Given the description of an element on the screen output the (x, y) to click on. 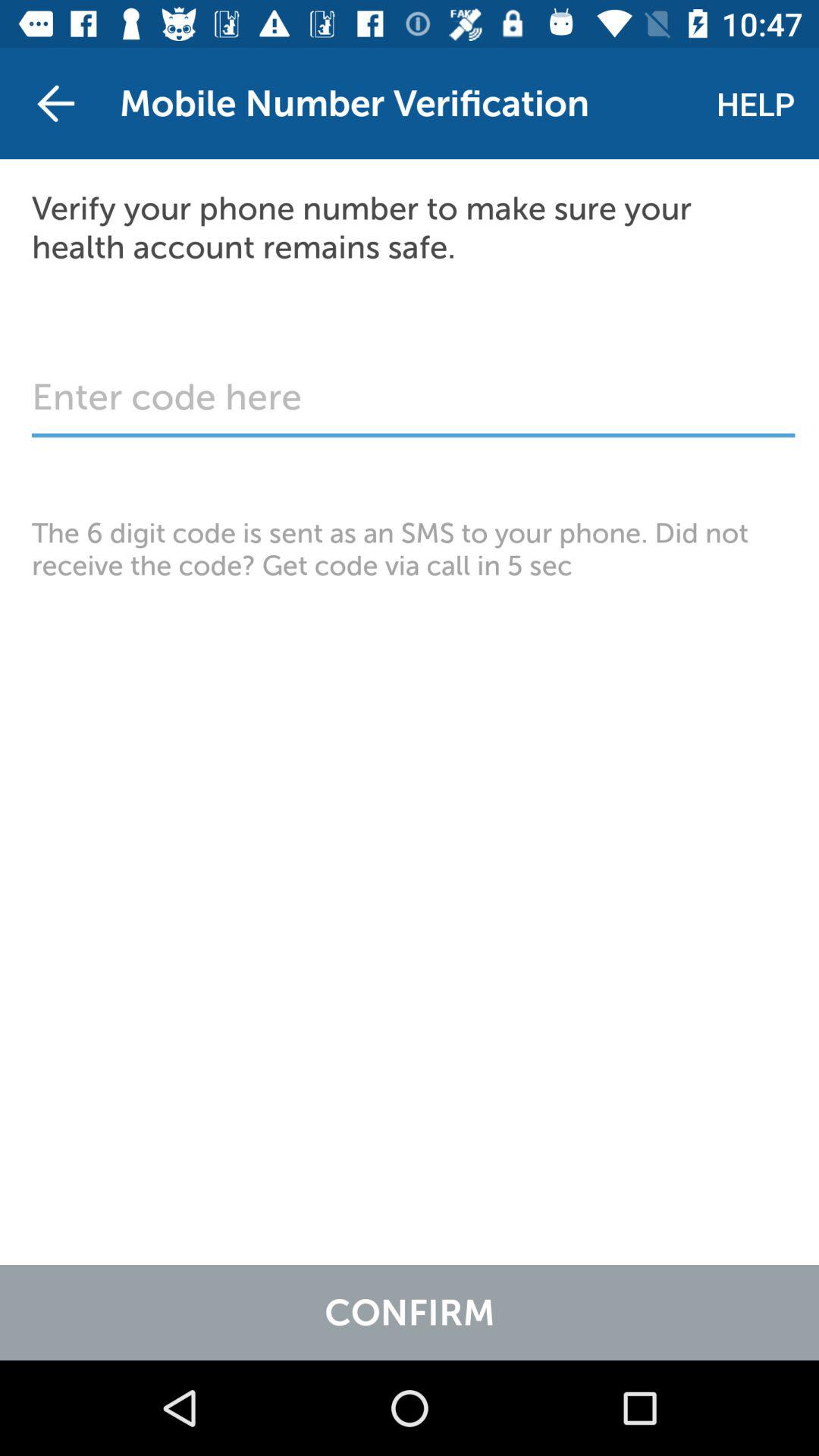
open the item below the verify your phone (413, 404)
